Given the description of an element on the screen output the (x, y) to click on. 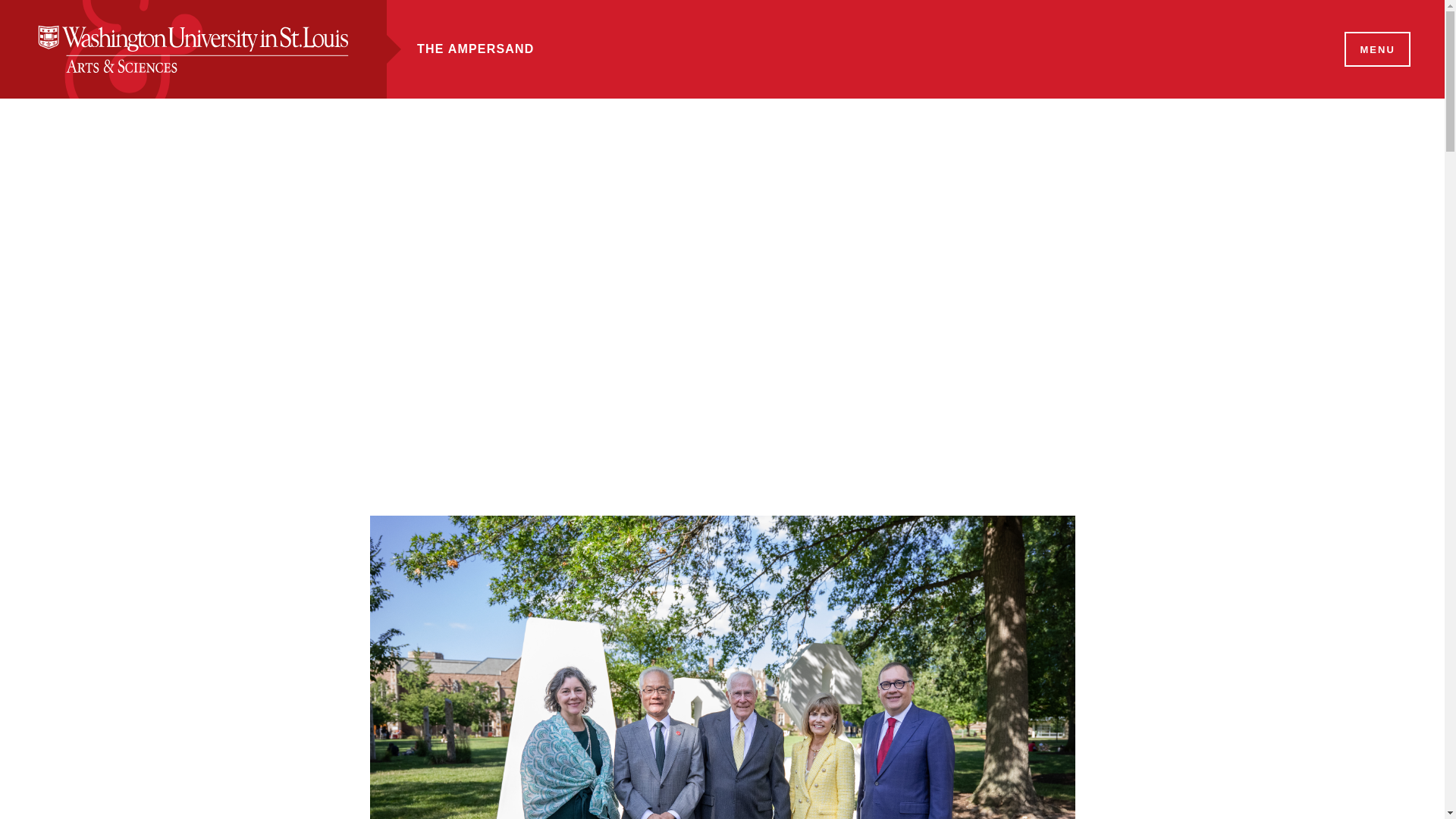
MENU (1376, 49)
THE AMPERSAND (475, 48)
